Given the description of an element on the screen output the (x, y) to click on. 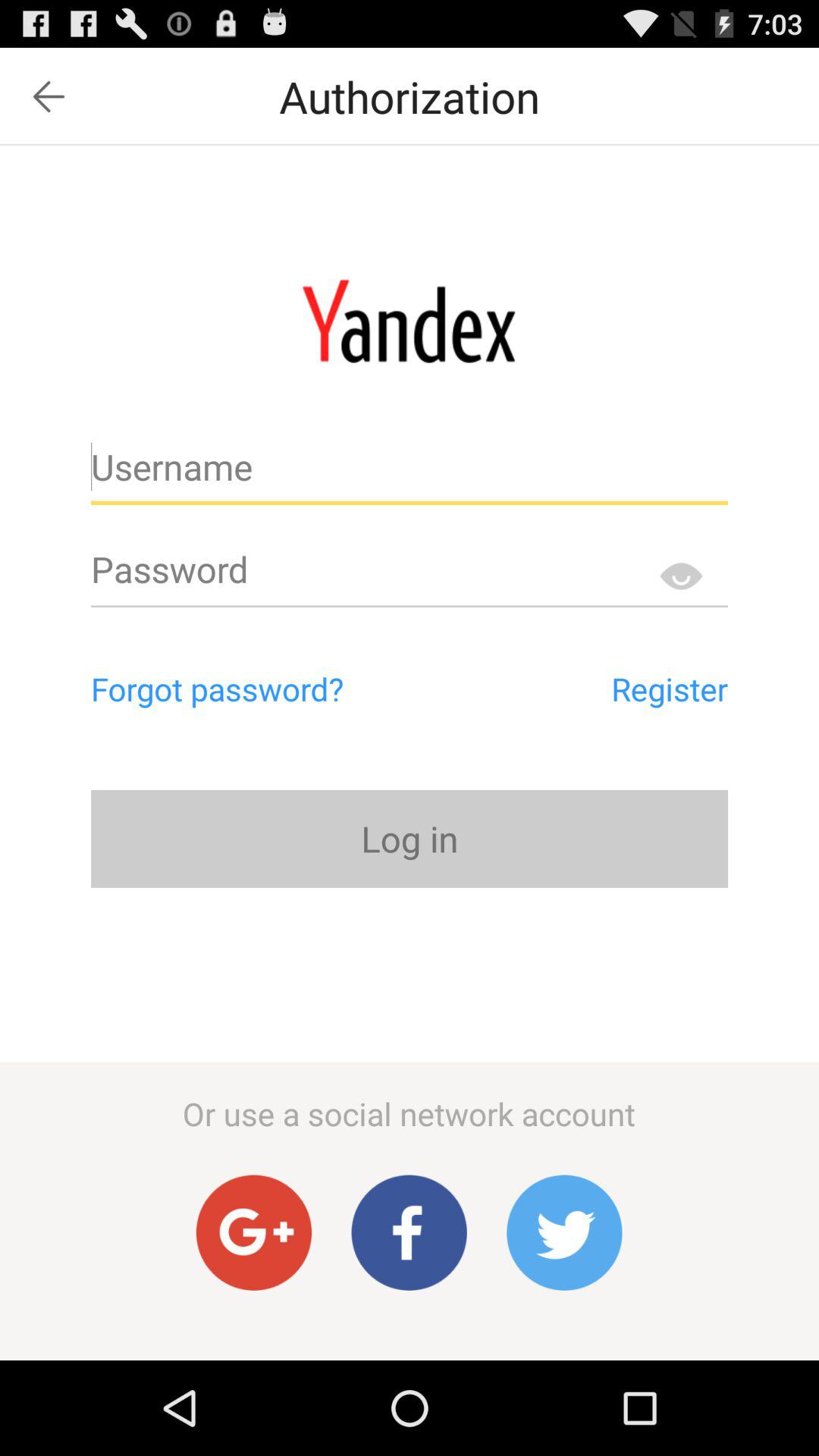
launch icon below authorization (408, 320)
